Given the description of an element on the screen output the (x, y) to click on. 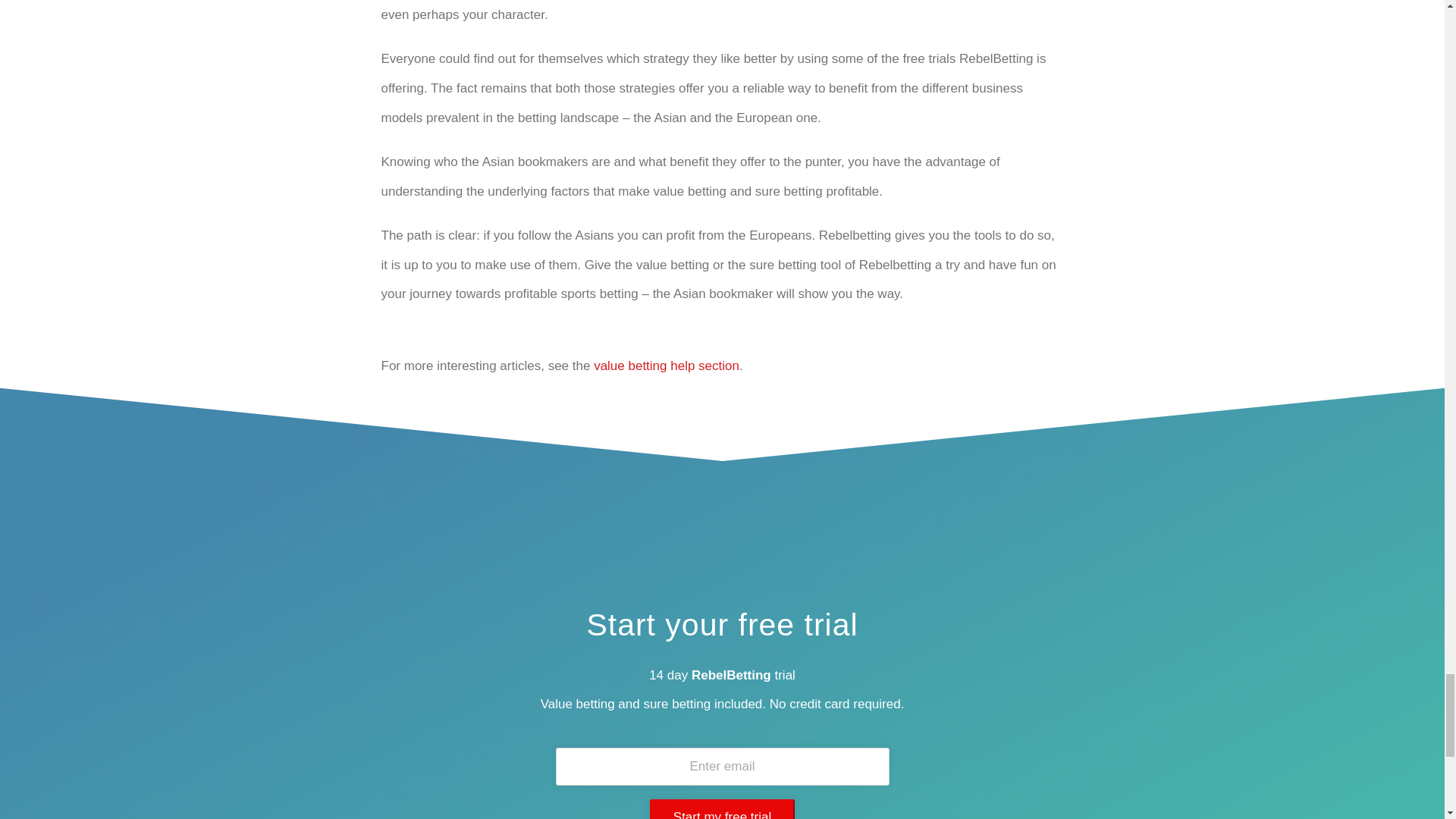
Start my free trial (721, 809)
